Given the description of an element on the screen output the (x, y) to click on. 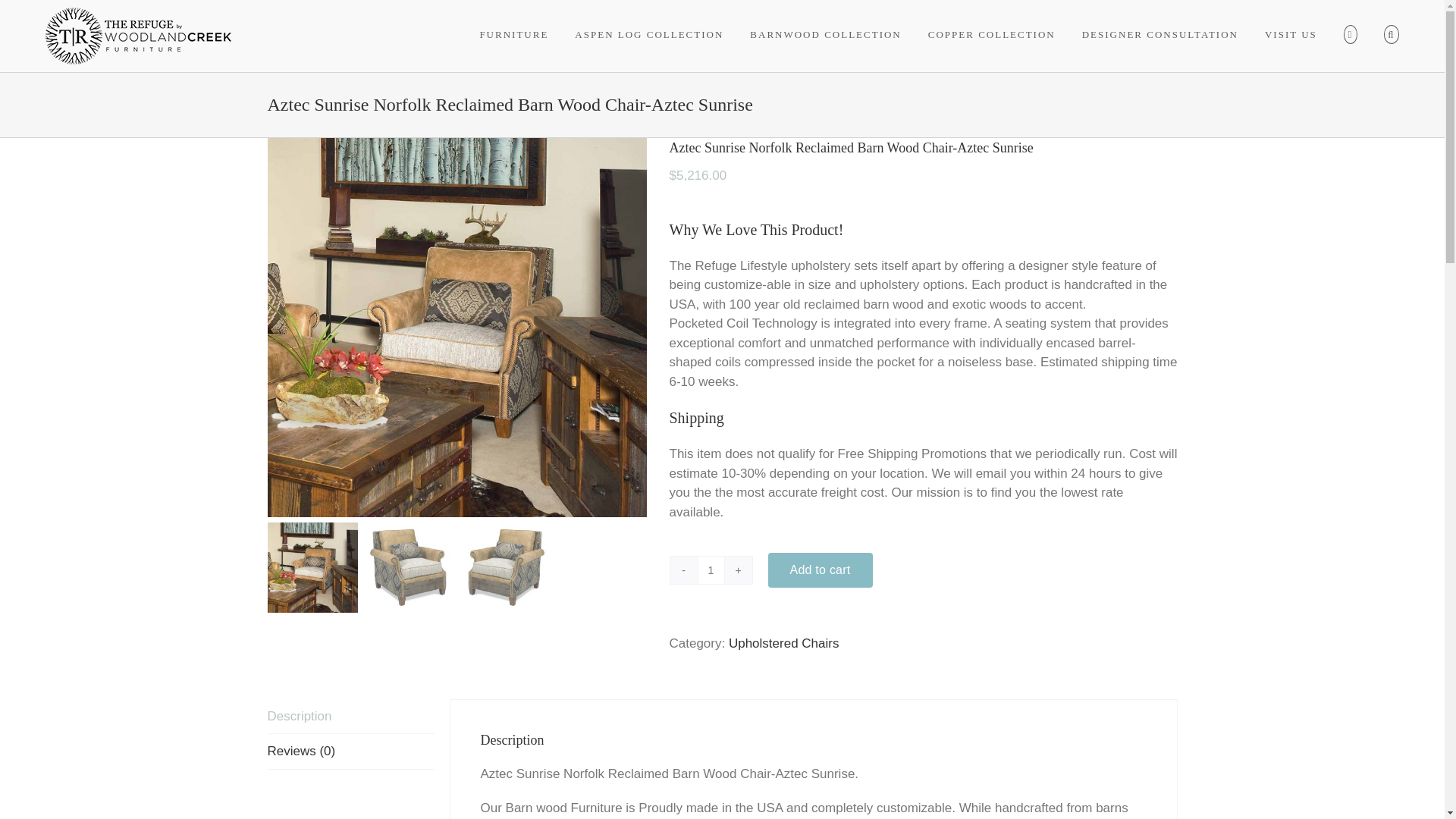
DESIGNER CONSULTATION (1160, 34)
COPPER COLLECTION (991, 34)
FURNITURE (513, 34)
BARNWOOD COLLECTION (825, 34)
ASPEN LOG COLLECTION (649, 34)
1 (711, 569)
- (683, 569)
